Given the description of an element on the screen output the (x, y) to click on. 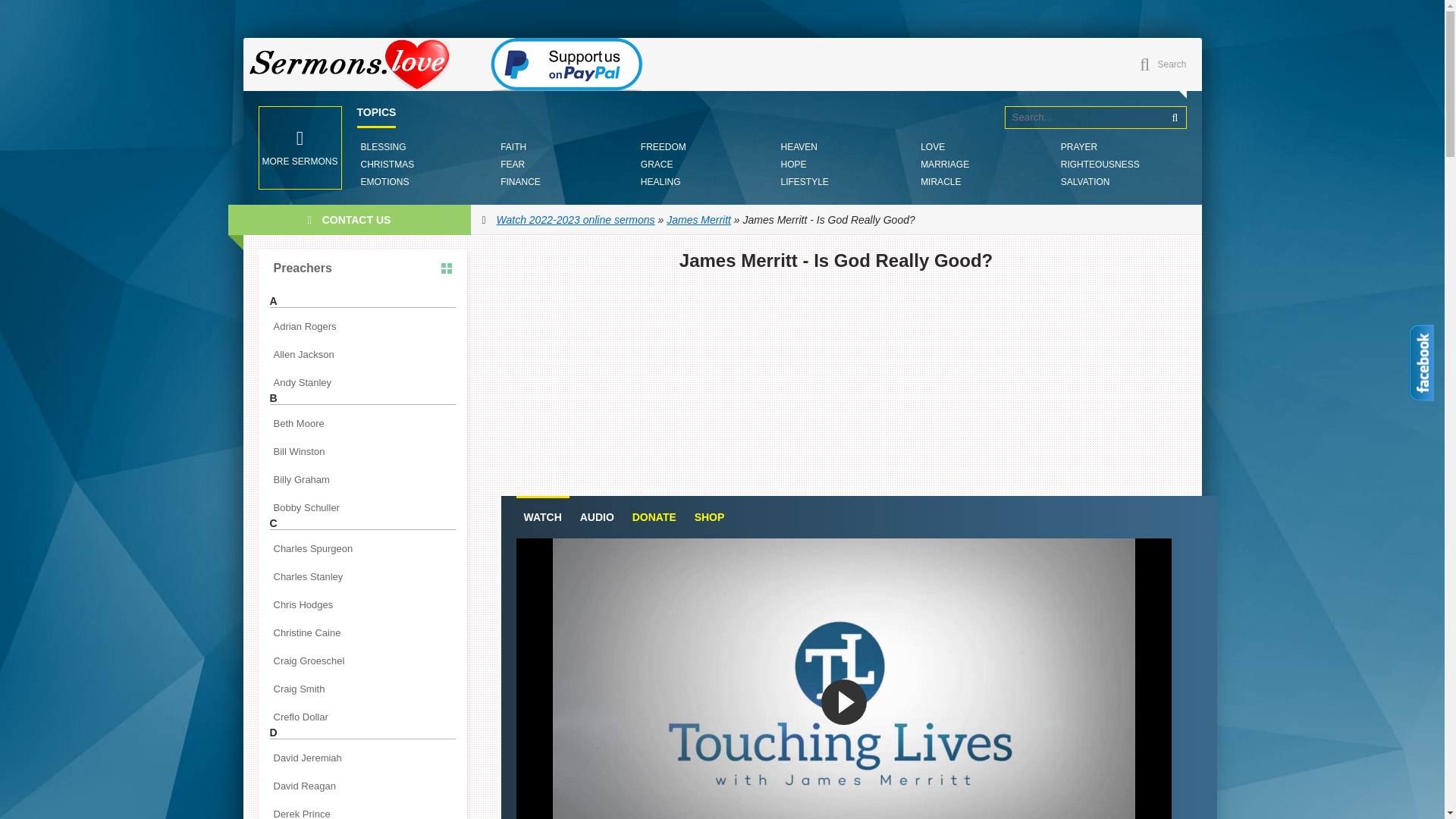
PRAYER (1078, 146)
HEALING (660, 181)
BLESSING (382, 146)
FREEDOM (663, 146)
SHOP (709, 517)
FEAR (512, 164)
SALVATION (1085, 181)
James Merritt (698, 219)
HEAVEN (798, 146)
FAITH (512, 146)
